Given the description of an element on the screen output the (x, y) to click on. 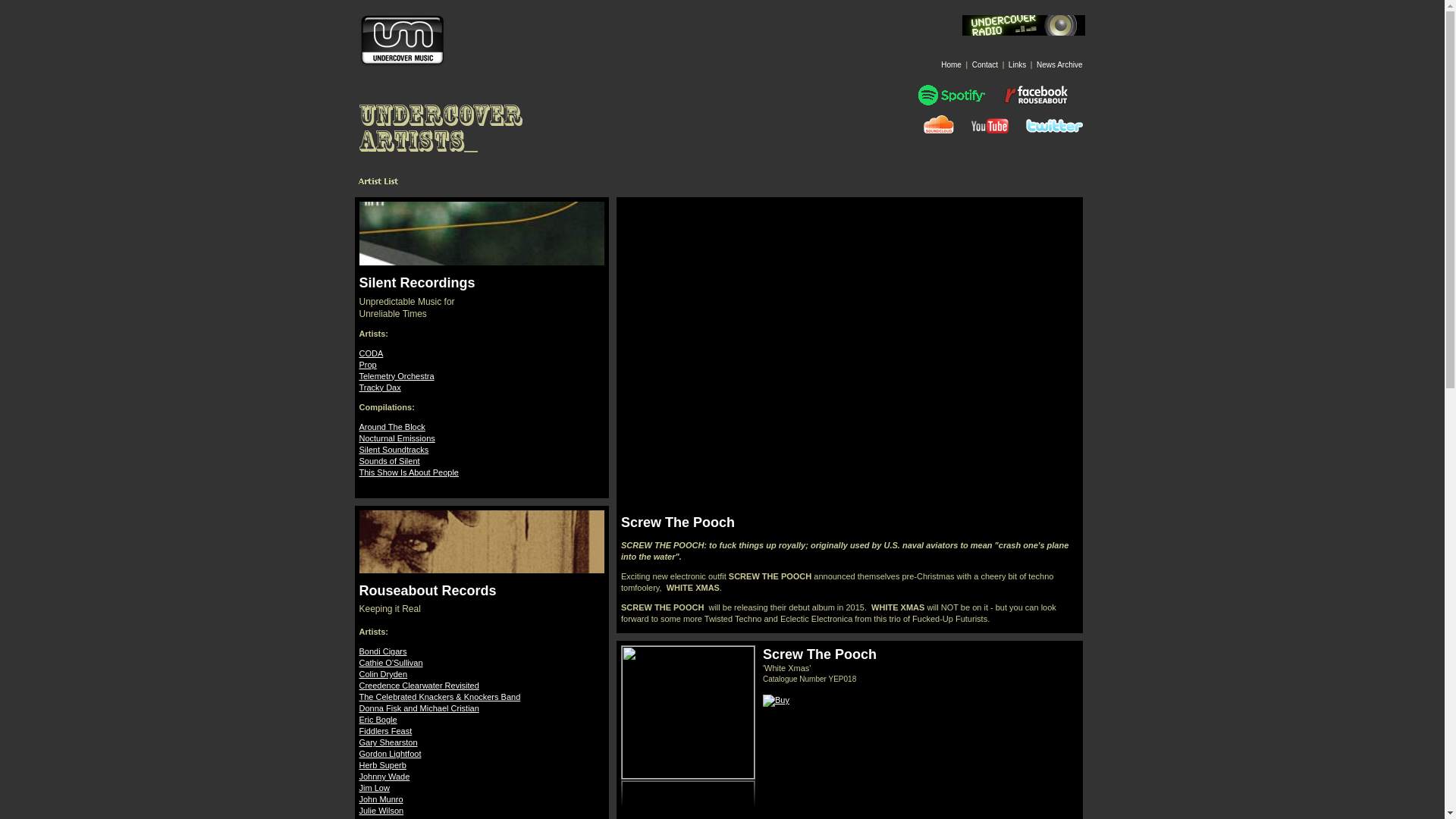
Contact (984, 64)
Silent Soundtracks (394, 449)
Around The Block (392, 426)
Bondi Cigars (383, 651)
Nocturnal Emissions (397, 438)
Telemetry Orchestra (396, 375)
News Archive (1059, 64)
Home (950, 64)
Colin Dryden (383, 673)
Links (1017, 64)
